Given the description of an element on the screen output the (x, y) to click on. 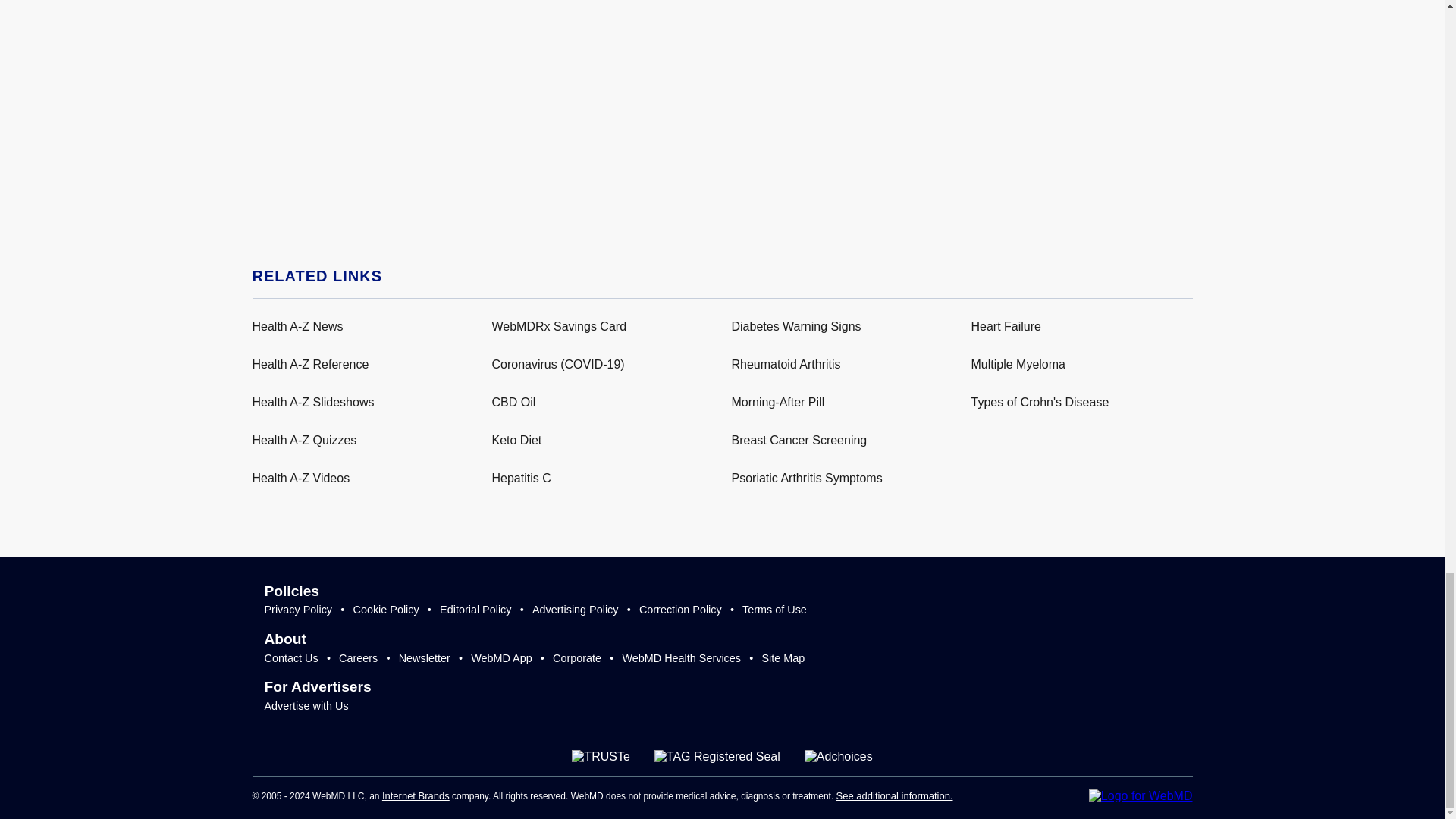
Adchoices (838, 756)
TRUSTe Privacy Certification (600, 756)
WebMD: Better information. Better health. (1140, 796)
TAG Registered Seal (716, 756)
